Given the description of an element on the screen output the (x, y) to click on. 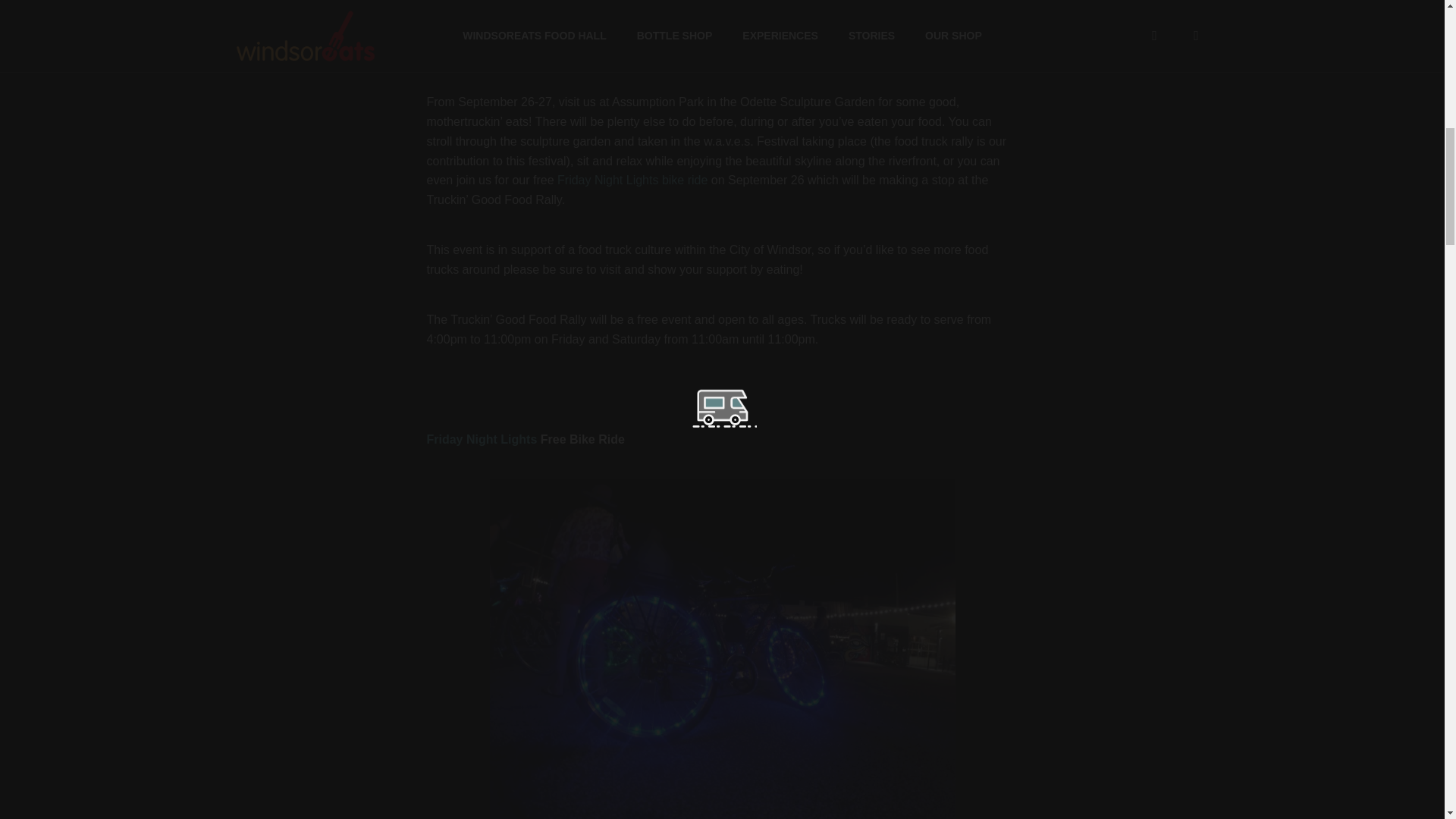
Friday Night Lighjts (632, 179)
Friday Night Lighjts (481, 439)
FareHarbor (1342, 64)
